Given the description of an element on the screen output the (x, y) to click on. 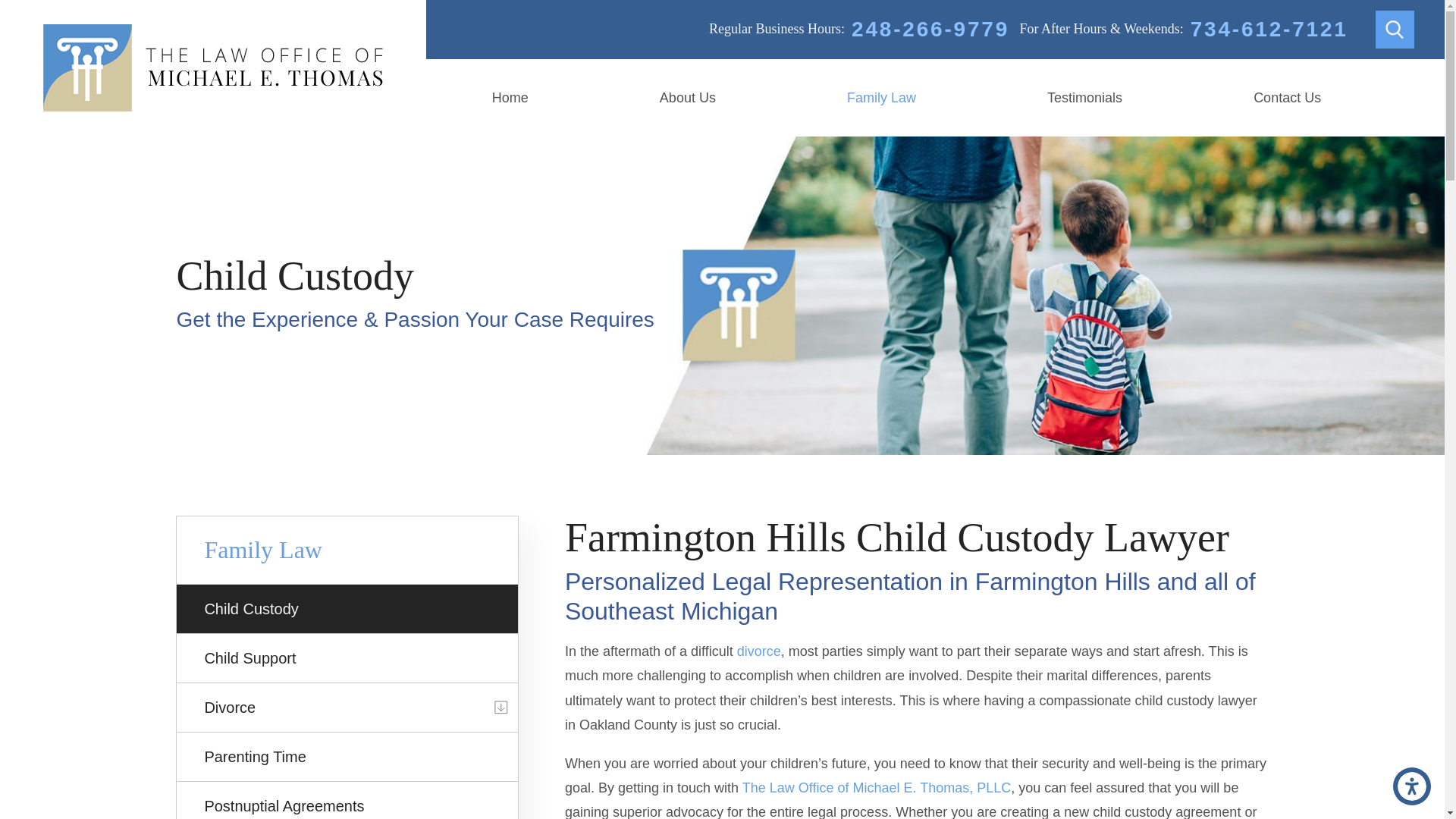
Search Our Site (1394, 29)
Contact Us (1287, 97)
734-612-7121 (1269, 29)
248-266-9779 (930, 29)
Home (510, 97)
About Us (687, 97)
Open child menu of Divorce (501, 707)
Testimonials (1084, 97)
The Law Office of Michael E. Thomas, PLLC (212, 67)
Family Law (880, 97)
Open the accessibility options menu (1412, 786)
Search Icon (1394, 29)
